Given the description of an element on the screen output the (x, y) to click on. 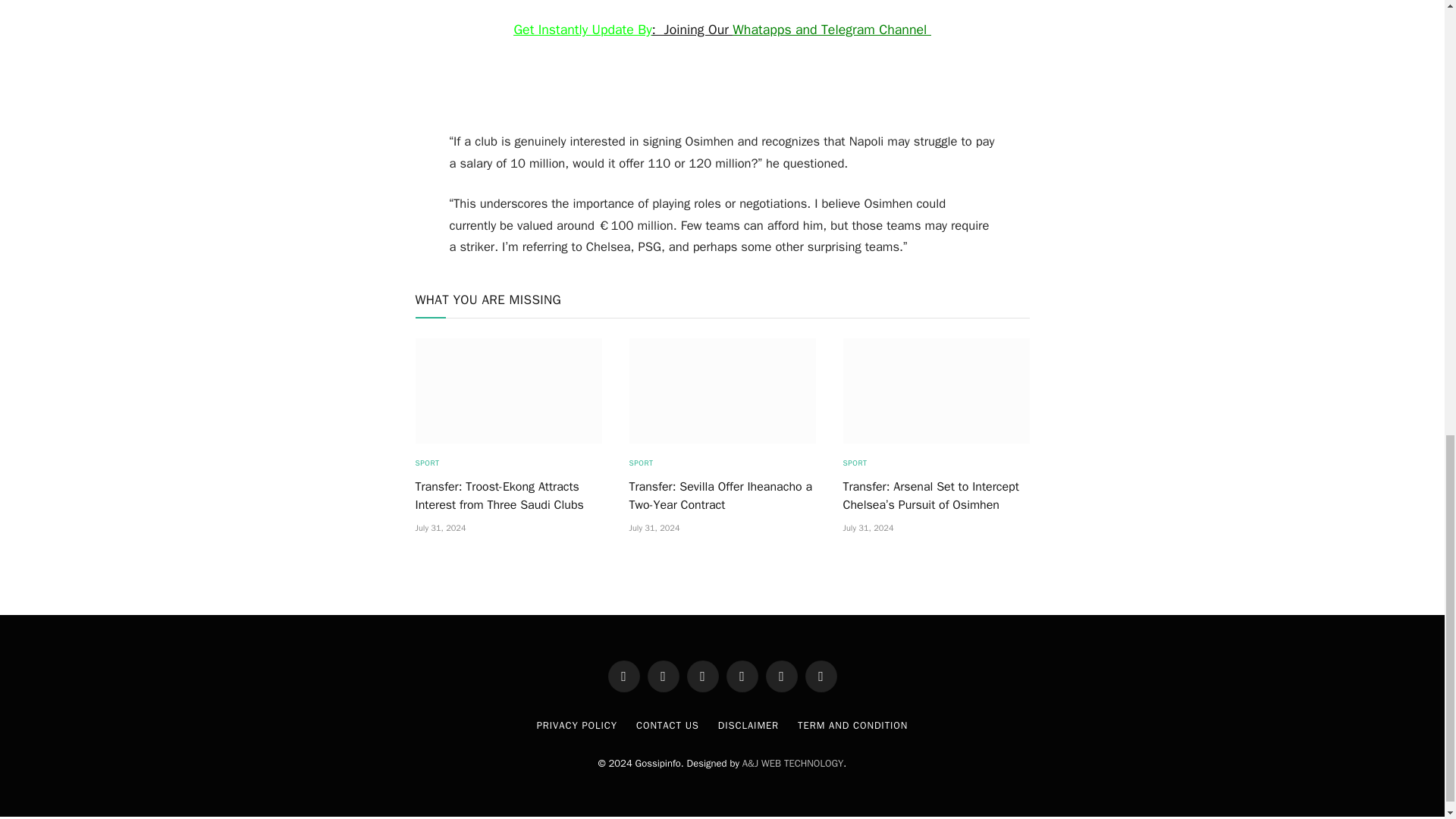
Transfer: Sevilla Offer Iheanacho a Two-Year Contract (721, 390)
Whatapps and Telegram Channel  (831, 29)
